Given the description of an element on the screen output the (x, y) to click on. 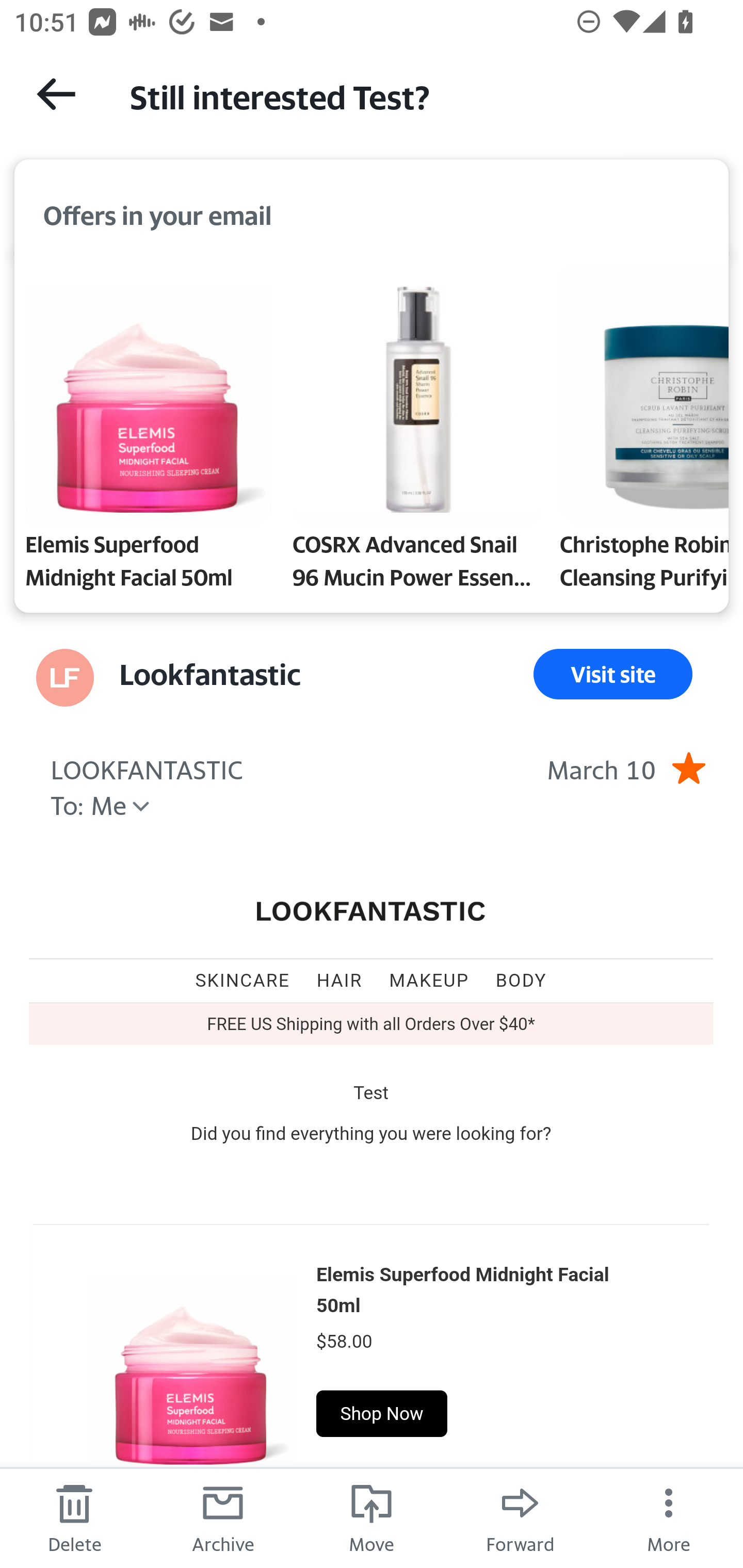
Back (55, 93)
Still interested Test? (418, 94)
Elemis Superfood Midnight Facial 50ml (147, 432)
COSRX Advanced Snail 96 Mucin Power Essence 100ml (415, 432)
View all messages from sender (64, 678)
Visit site Visit Site Link (612, 674)
Lookfantastic Sender Lookfantastic (209, 673)
LOOKFANTASTIC Sender LOOKFANTASTIC (146, 767)
Remove star. (688, 767)
lookfantastic (371, 911)
  SKINCARE   (242, 979)
  HAIR   (338, 979)
  MAKEUP   (428, 979)
  BODY   (520, 979)
Elemis Superfood Midnight Facial 50ml (190, 1360)
Elemis Superfood Midnight Facial 50ml (462, 1289)
Shop Now (381, 1413)
Delete (74, 1517)
Archive (222, 1517)
Move (371, 1517)
Forward (519, 1517)
More (668, 1517)
